Given the description of an element on the screen output the (x, y) to click on. 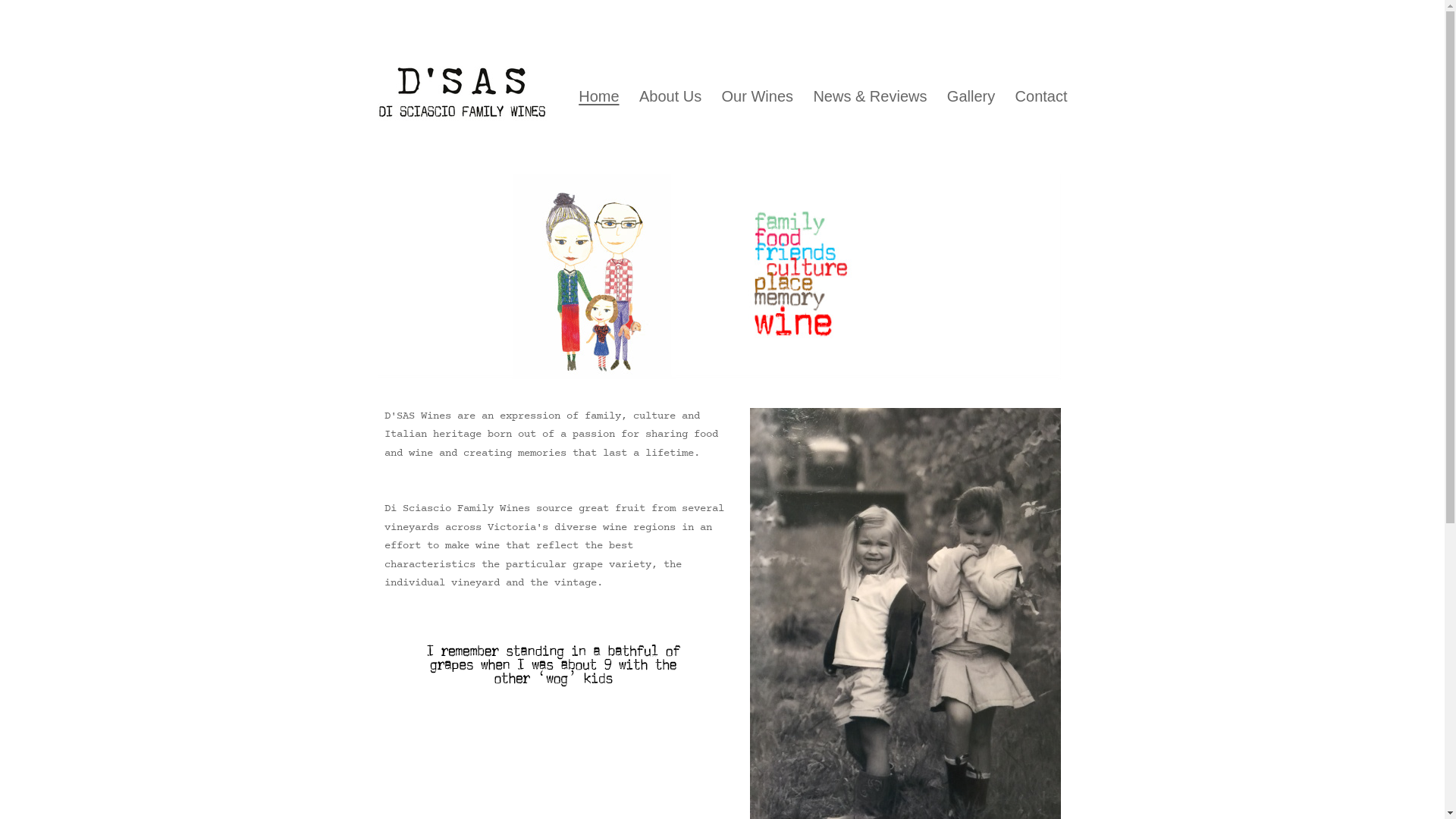
Contact Element type: text (1040, 95)
Gallery Element type: text (971, 95)
News & Reviews Element type: text (869, 95)
Our Wines Element type: text (757, 95)
About Us Element type: text (670, 95)
Home Element type: text (598, 95)
